Given the description of an element on the screen output the (x, y) to click on. 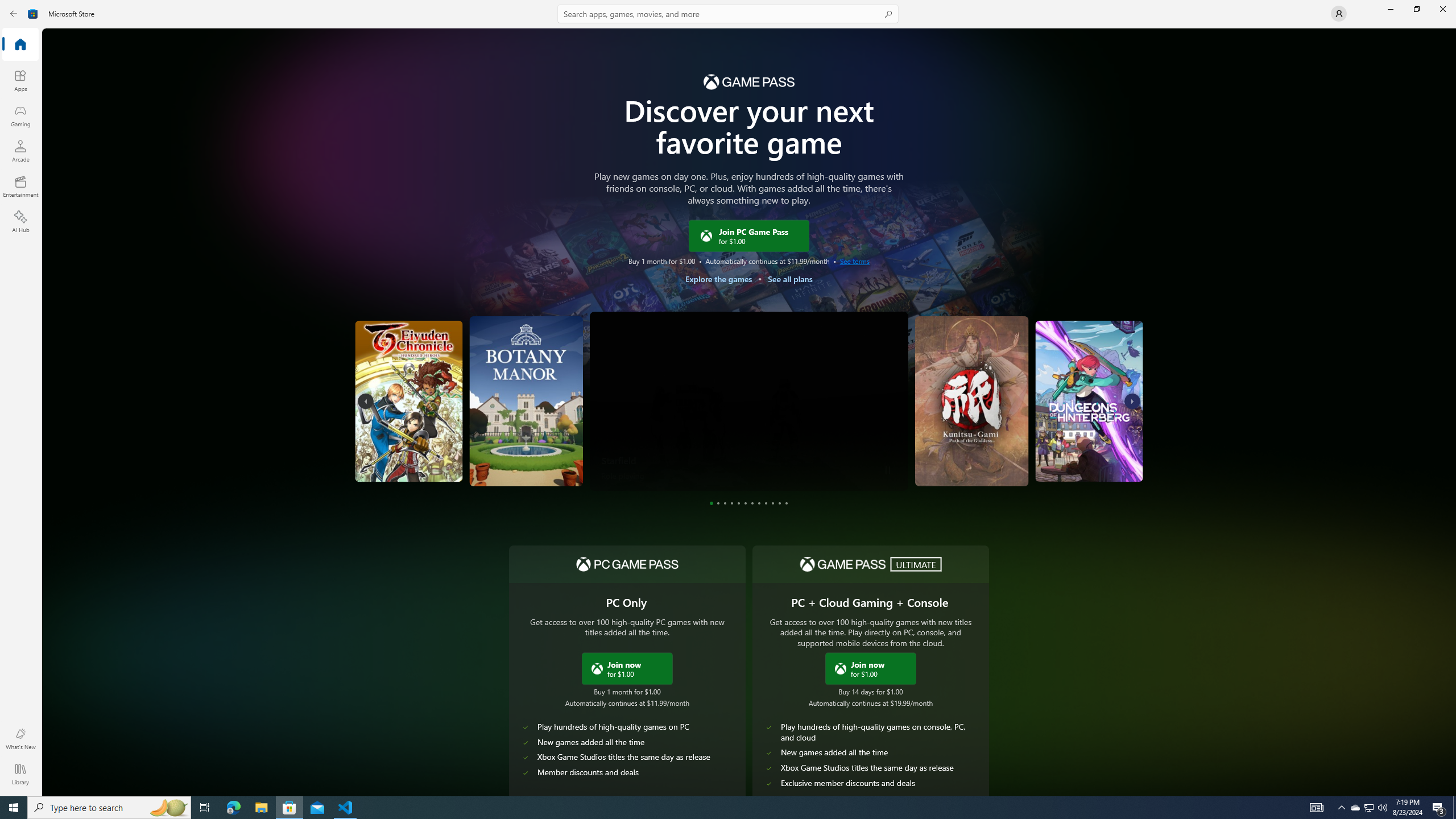
Page 2 (718, 503)
Dungeons Of Hinterberg (1044, 401)
Search (727, 13)
AutomationID: NavigationControl (728, 398)
Restore Microsoft Store (1416, 9)
Kunitsu-Gami: Path of the Goddess (974, 401)
Explore the games (718, 278)
Page 12 (786, 503)
PC Game Pass logo (627, 563)
Library (20, 773)
Play Trailer (1102, 466)
Page 11 (779, 503)
Kunitsu-Gami: Path of the Goddess (900, 456)
AutomationID: TrailerImage (1105, 400)
Gaming (20, 115)
